Given the description of an element on the screen output the (x, y) to click on. 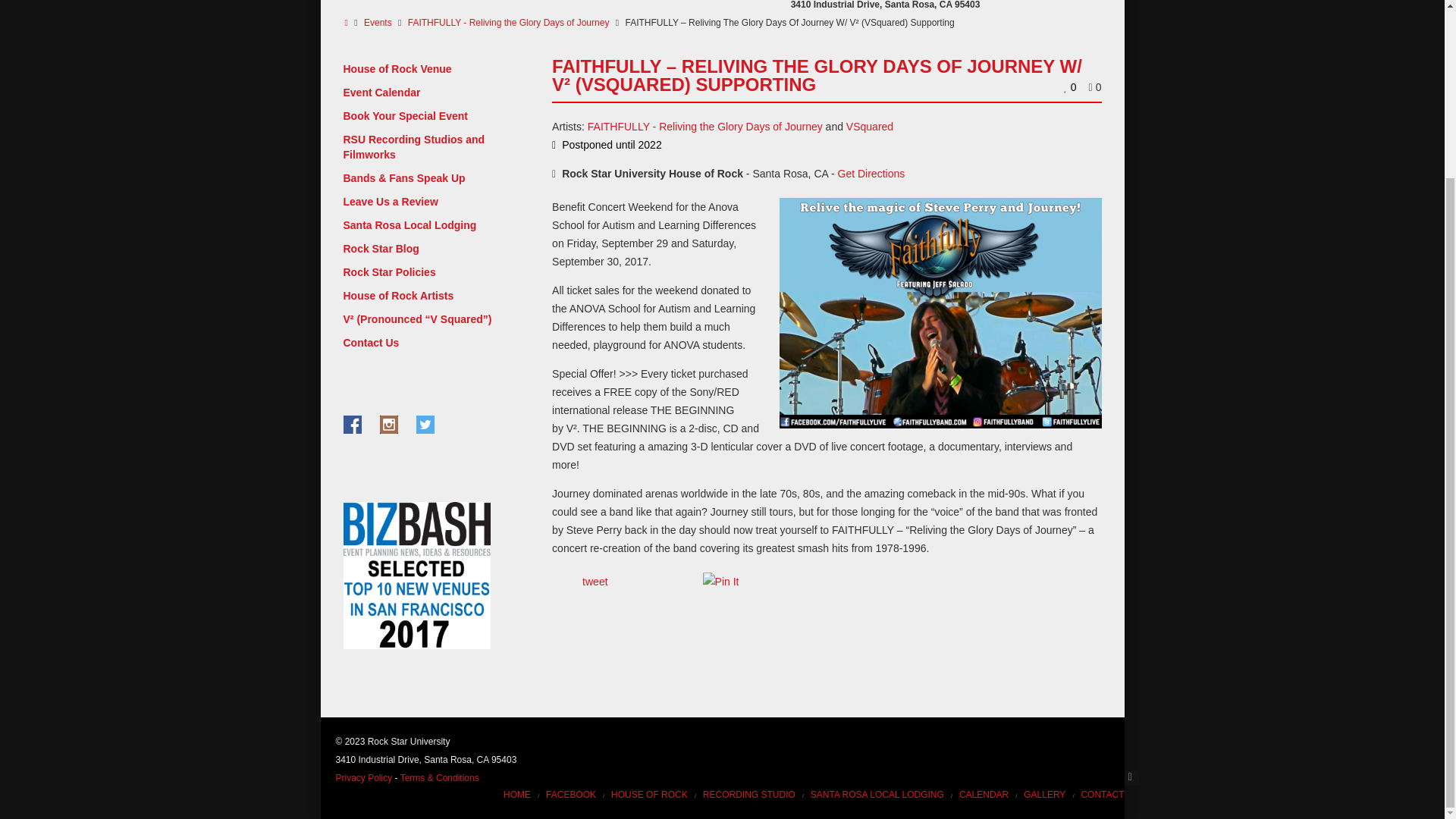
FAITHFULLY - Reliving the Glory Days of Journey (705, 126)
Pin It (721, 581)
VSquared (869, 126)
Get Directions (871, 173)
Events (377, 22)
tweet (594, 581)
FAITHFULLY - Reliving the Glory Days of Journey (508, 22)
